Given the description of an element on the screen output the (x, y) to click on. 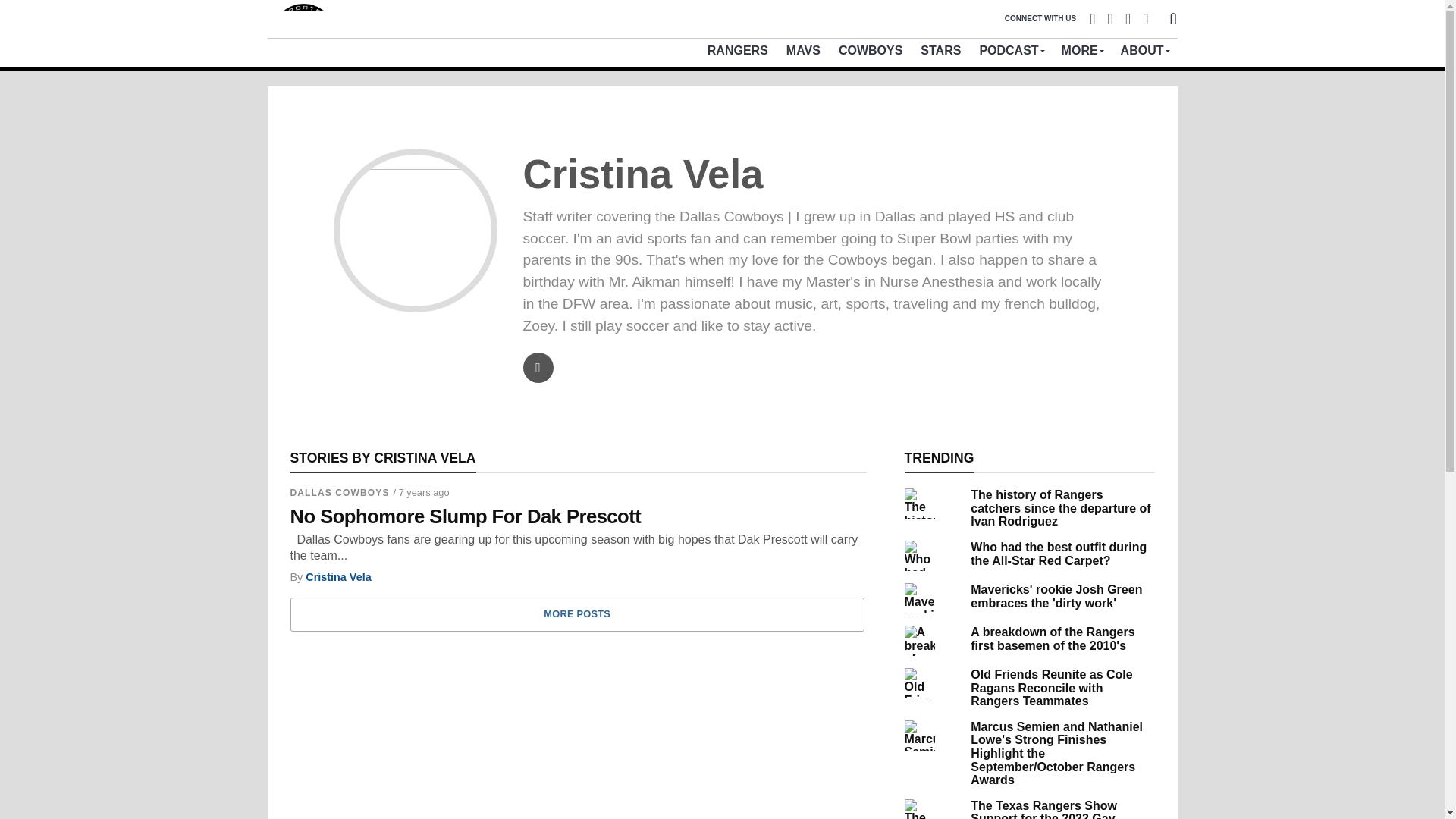
Mavericks' rookie Josh Green embraces the 'dirty work' (1056, 596)
Who had the best outfit during the All-Star Red Carpet? (1059, 553)
Posts by Cristina Vela (338, 576)
RANGERS (737, 50)
A breakdown of the Rangers first basemen of the 2010's (1052, 638)
MAVS (803, 50)
